Given the description of an element on the screen output the (x, y) to click on. 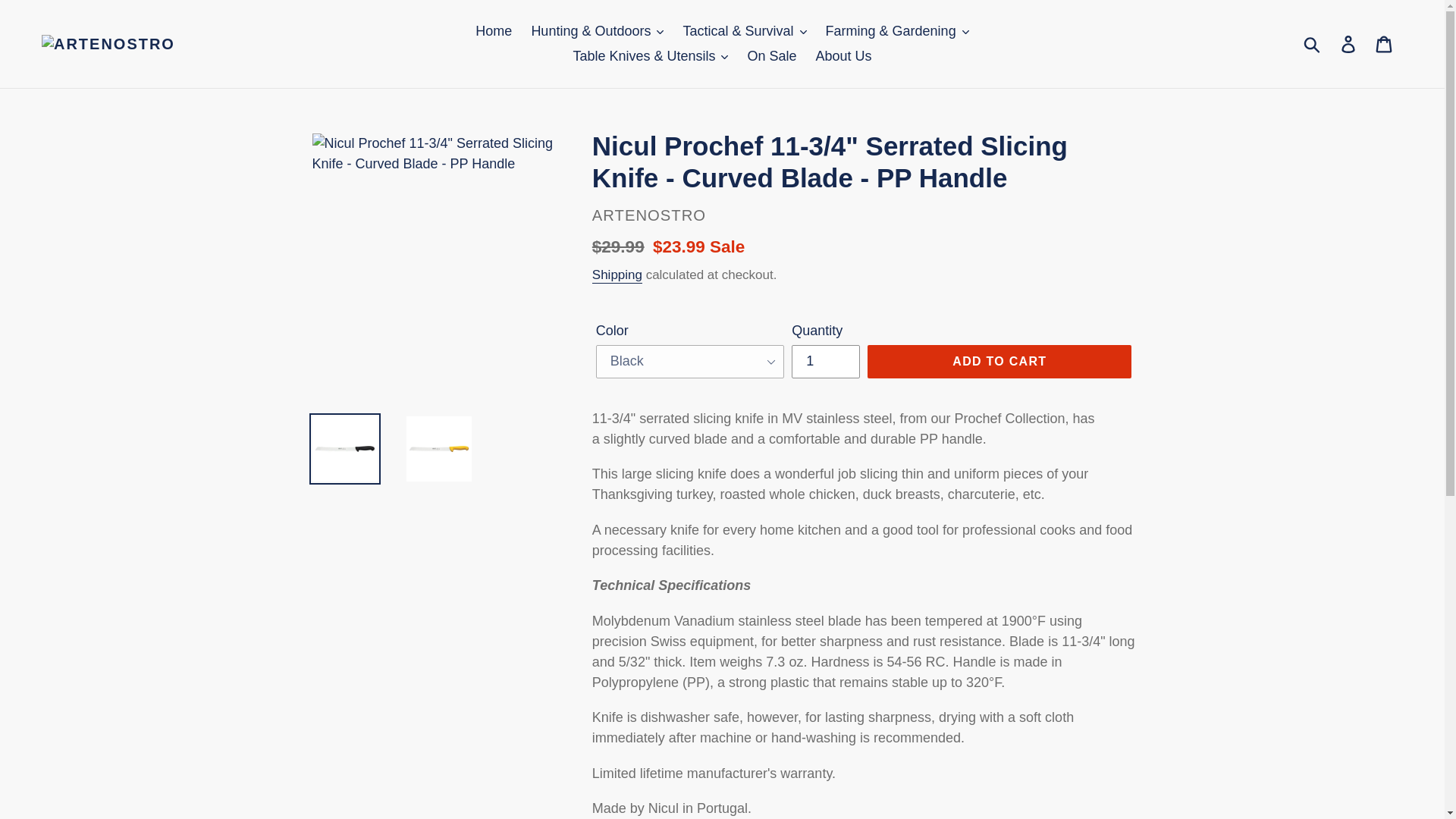
Log in (1349, 43)
About Us (843, 56)
1 (826, 361)
On Sale (772, 56)
Cart (1385, 43)
Submit (1313, 43)
Home (493, 31)
